Given the description of an element on the screen output the (x, y) to click on. 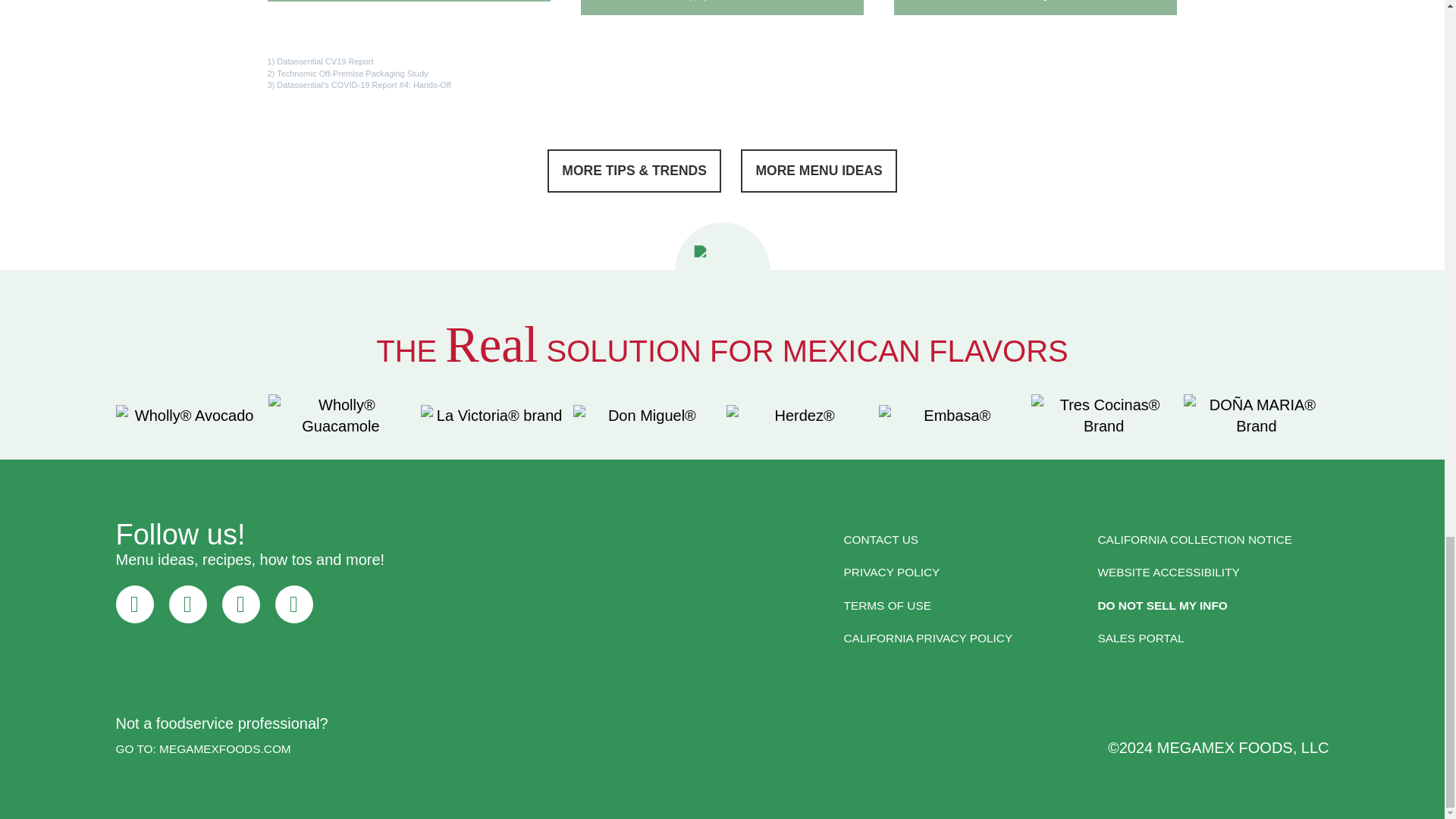
logo-dona-maria-brand (1255, 414)
Tres-Cocinas-brand-logo (1103, 414)
